Given the description of an element on the screen output the (x, y) to click on. 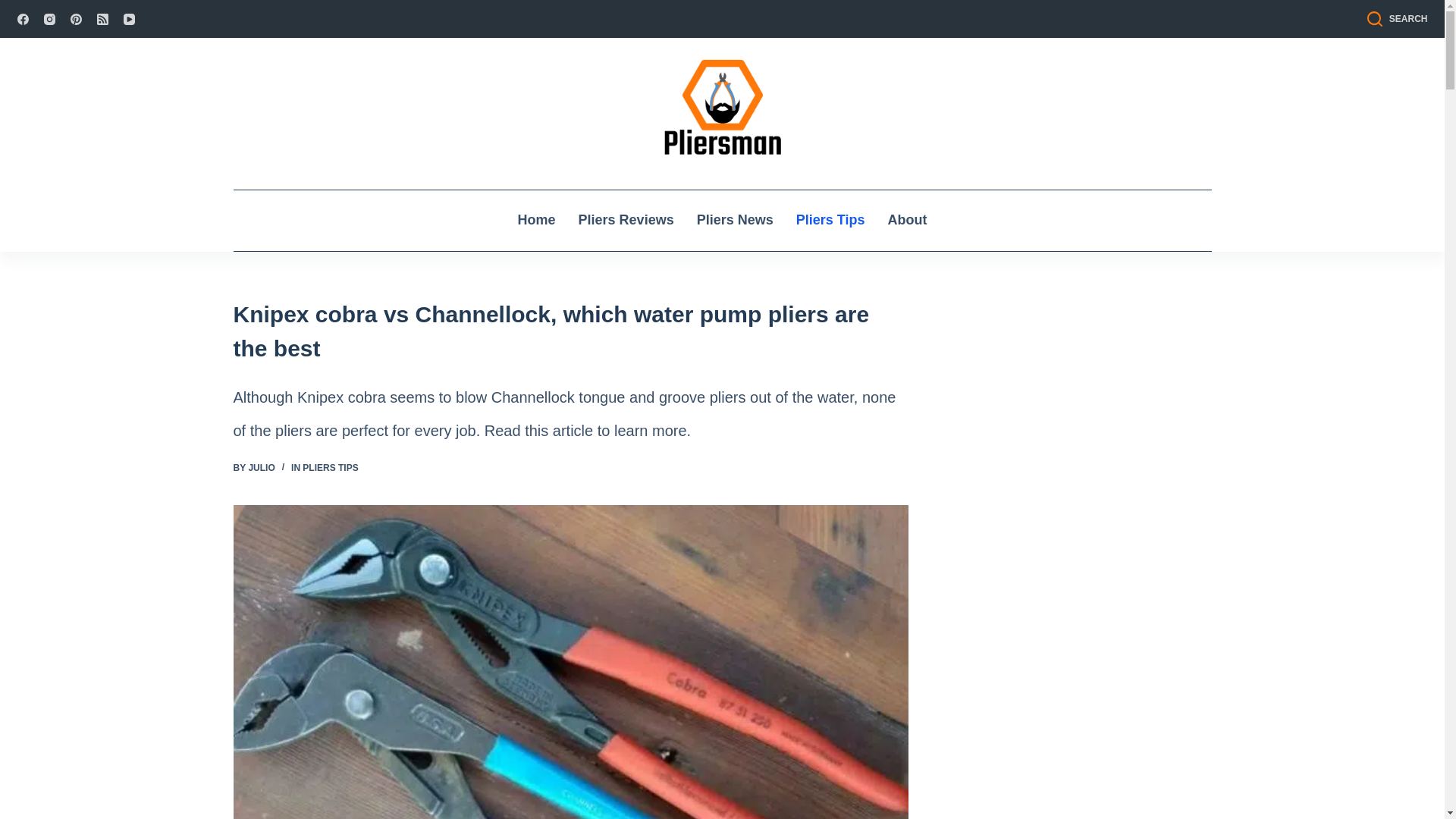
Posts by Julio (261, 467)
Pliers News (734, 220)
JULIO (261, 467)
Skip to content (15, 7)
SEARCH (1396, 18)
PLIERS TIPS (330, 467)
Pliers Tips (830, 220)
Pliers Reviews (626, 220)
